Given the description of an element on the screen output the (x, y) to click on. 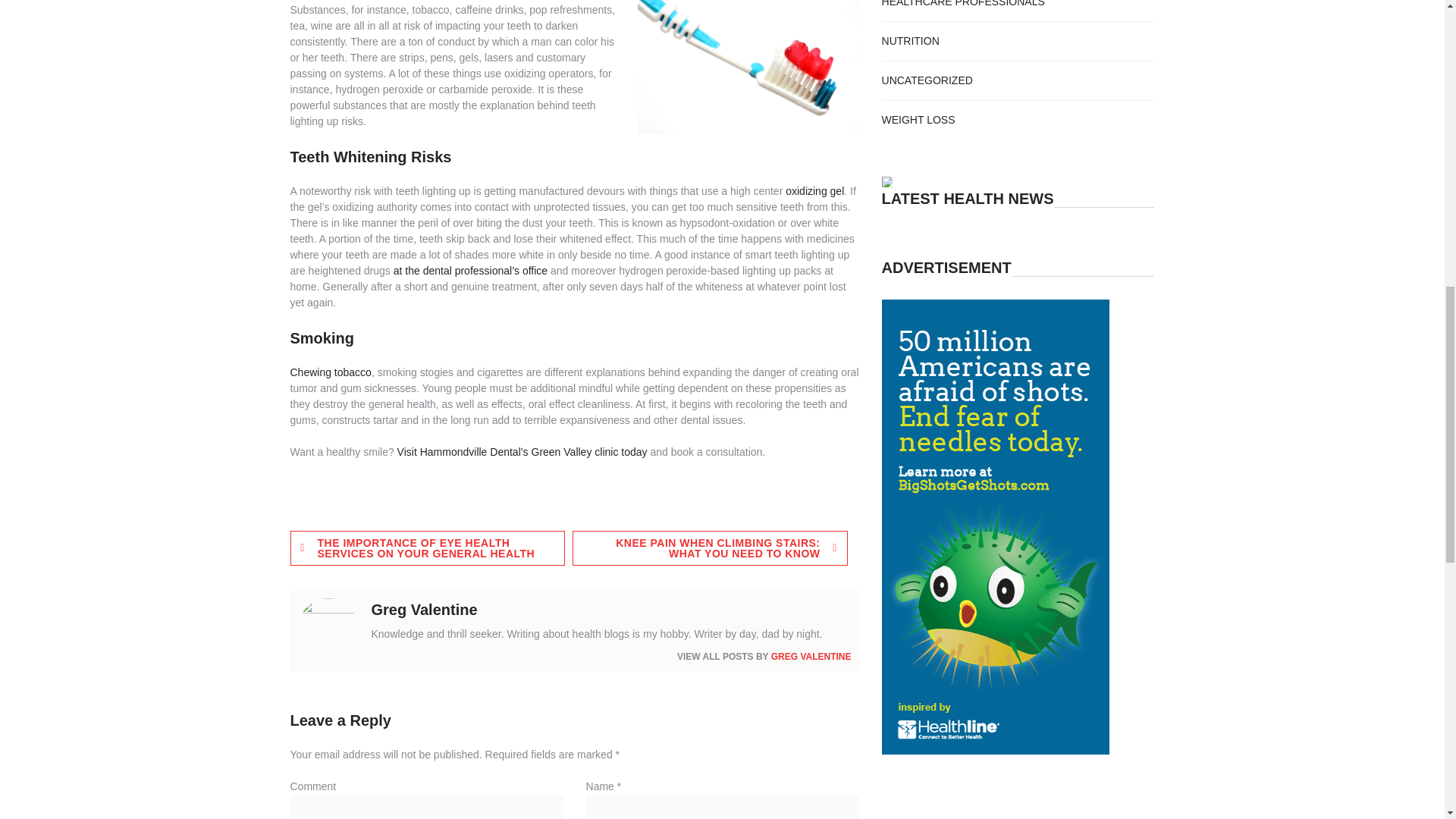
KNEE PAIN WHEN CLIMBING STAIRS: WHAT YOU NEED TO KNOW (709, 547)
Chewing tobacco (330, 372)
oxidizing gel (815, 191)
Weight Loss blogs (918, 119)
Blogs about nutrition and healthy eating. (910, 40)
WEIGHT LOSS (918, 119)
UNCATEGORIZED (927, 80)
THE IMPORTANCE OF EYE HEALTH SERVICES ON YOUR GENERAL HEALTH (426, 547)
GREG VALENTINE (811, 656)
HEALTHCARE PROFESSIONALS (963, 3)
NUTRITION (910, 40)
